Given the description of an element on the screen output the (x, y) to click on. 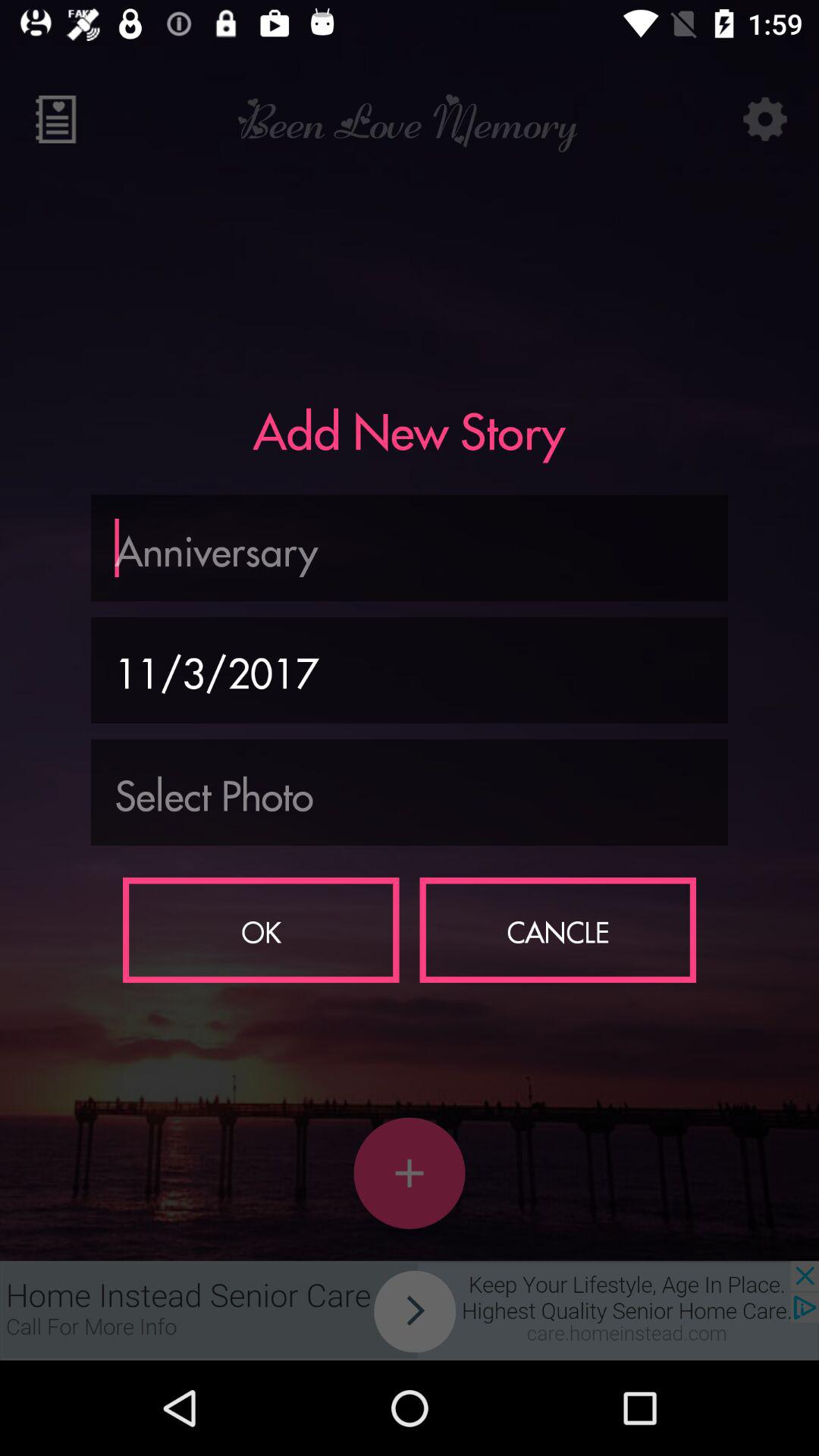
enter text (409, 547)
